Given the description of an element on the screen output the (x, y) to click on. 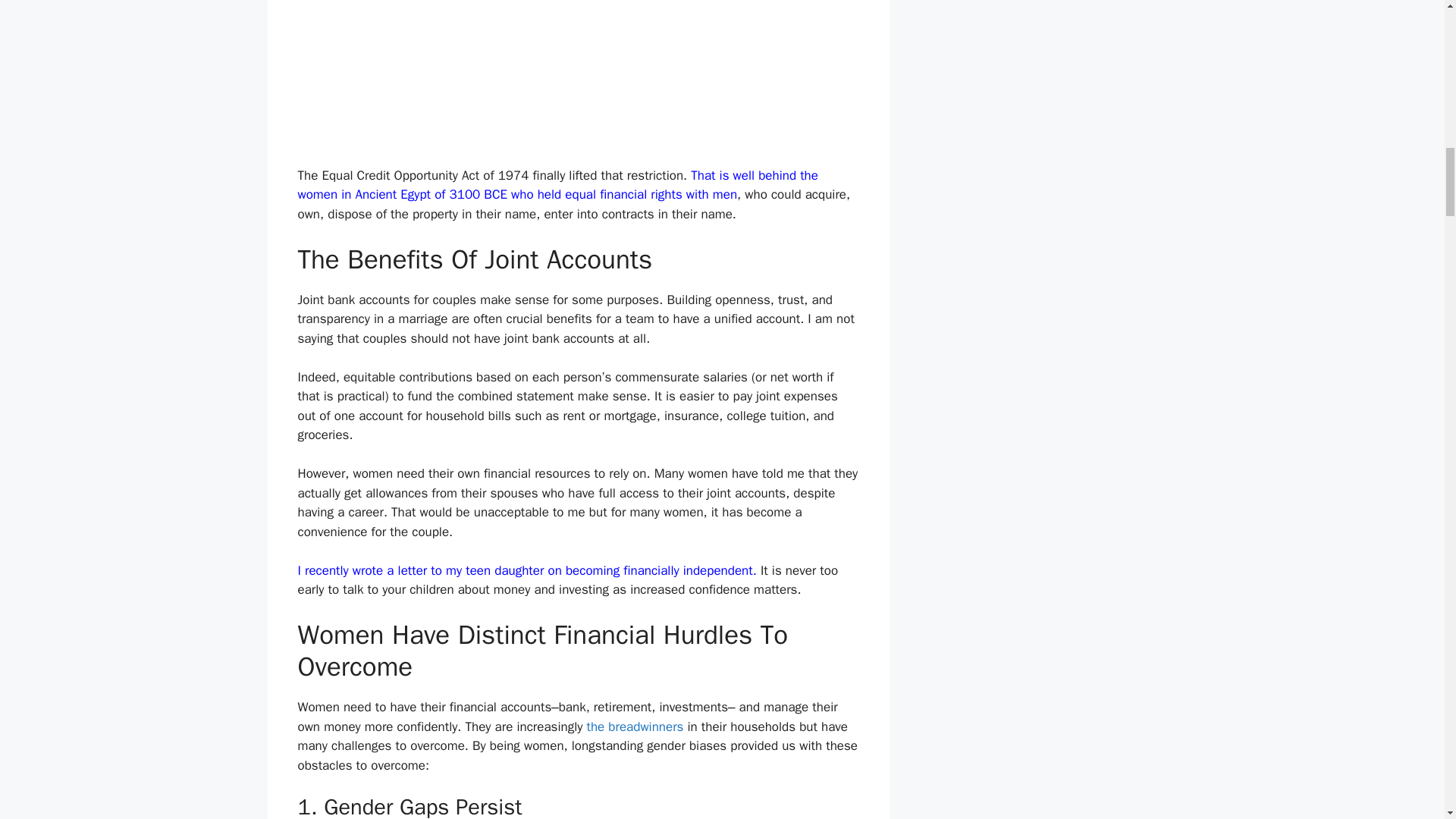
the breadwinners (634, 726)
